Given the description of an element on the screen output the (x, y) to click on. 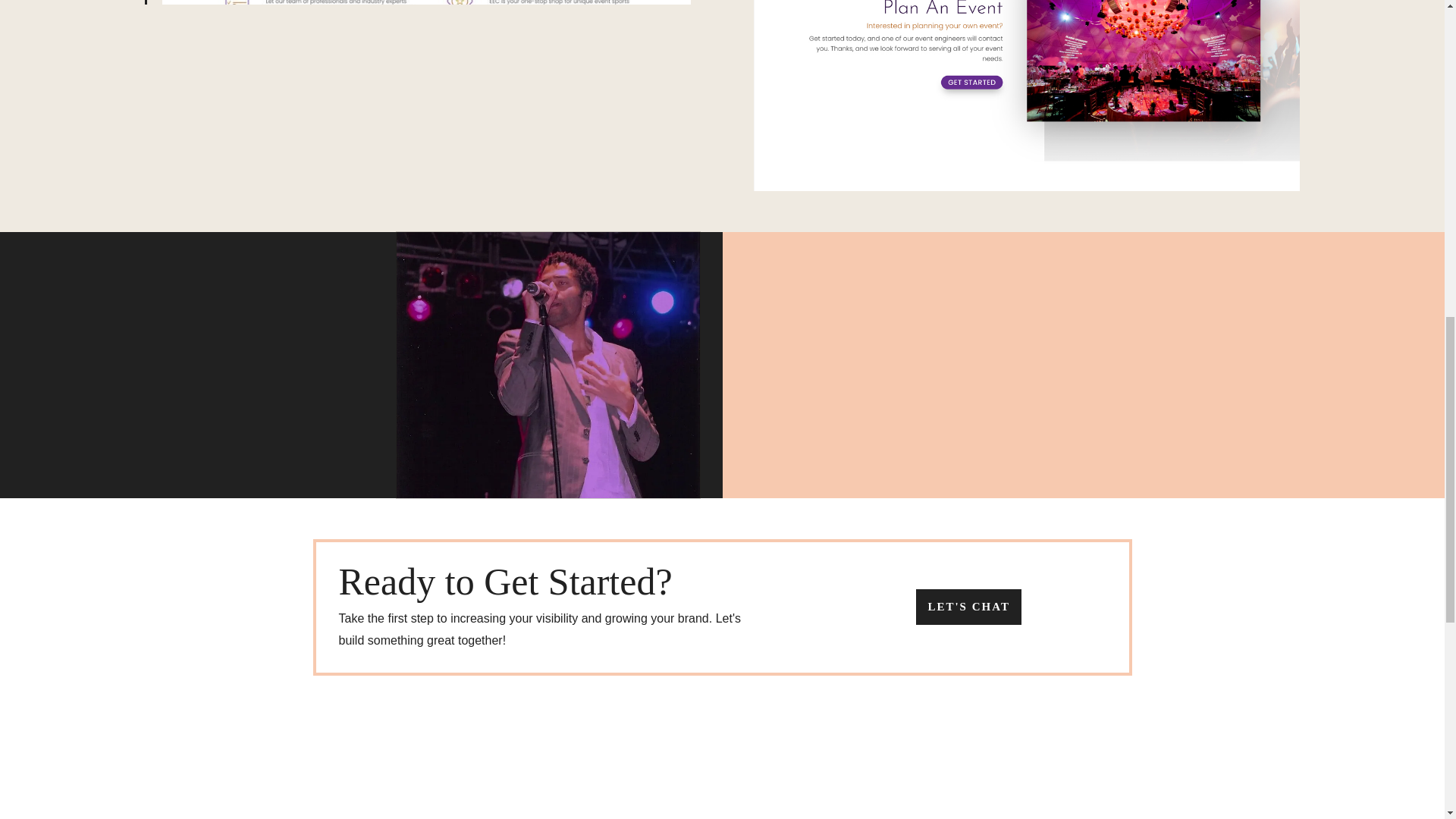
Eric-Benet-resized (547, 364)
LET'S CHAT (968, 606)
